Given the description of an element on the screen output the (x, y) to click on. 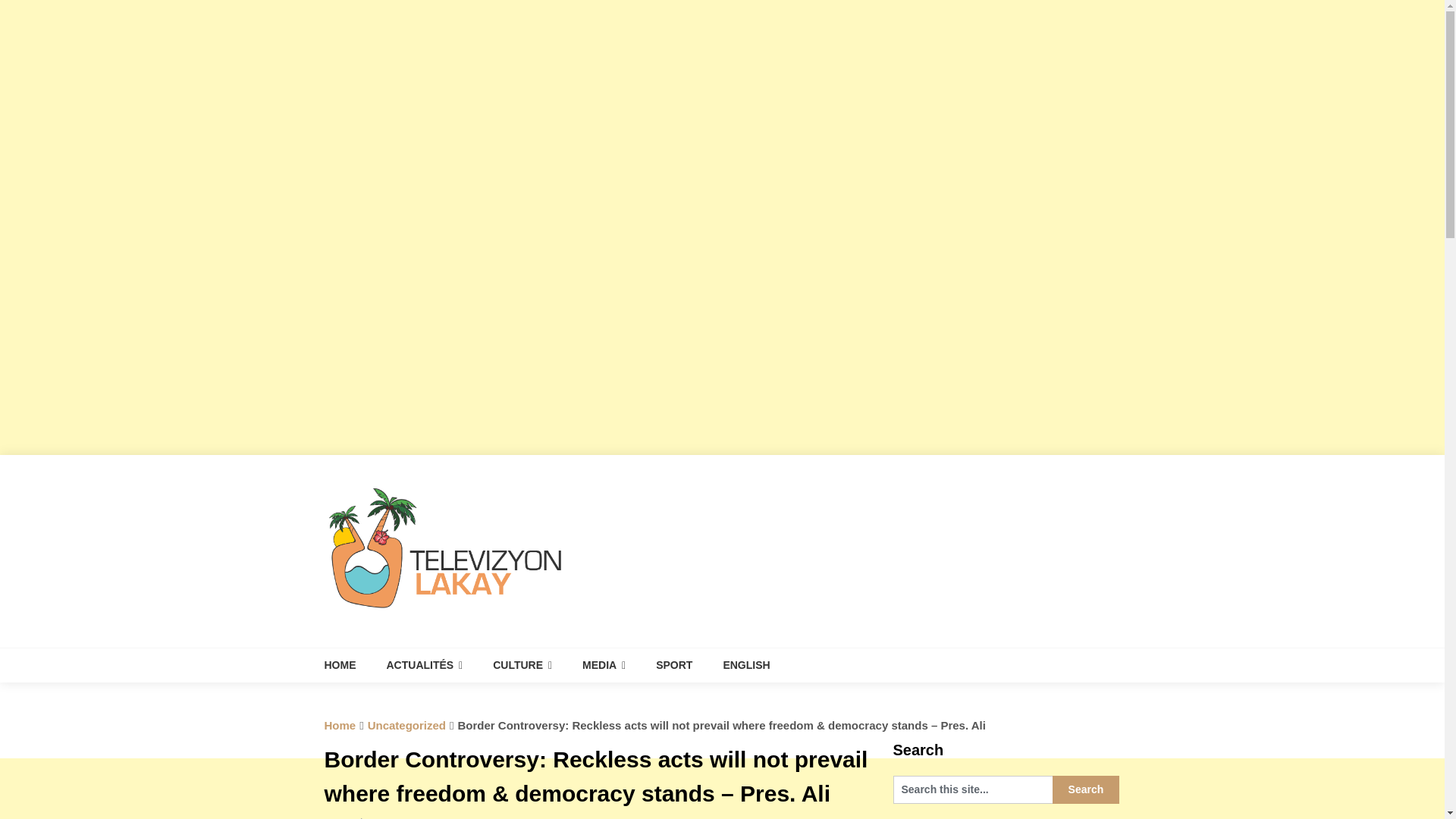
HOME (347, 665)
SPORT (673, 665)
Uncategorized (406, 725)
CULTURE (522, 665)
Search (1085, 789)
MEDIA (603, 665)
Home (340, 725)
Search this site... (972, 789)
ENGLISH (745, 665)
Search (1085, 789)
